Given the description of an element on the screen output the (x, y) to click on. 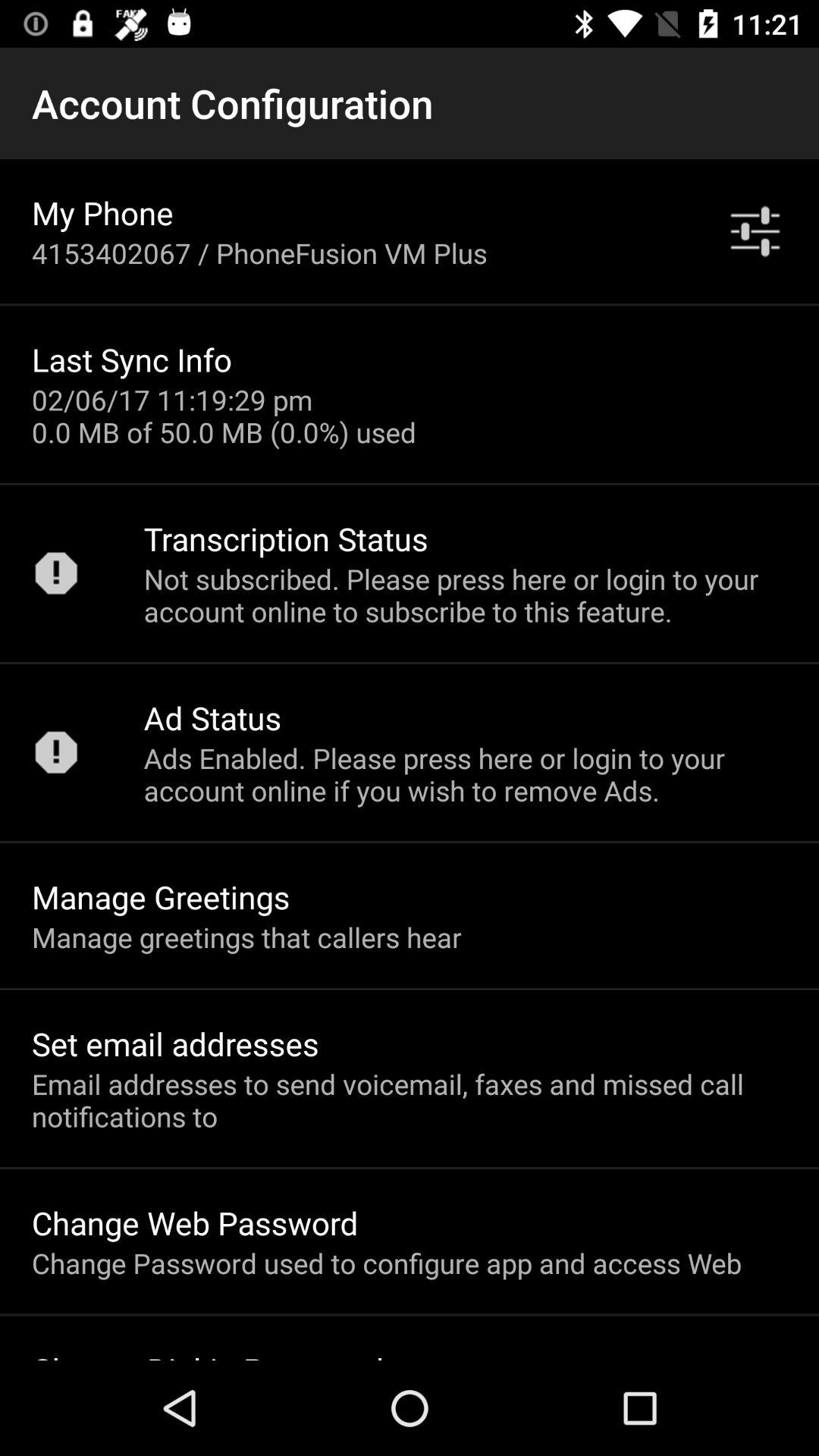
select the item to the right of the 4153402067 phonefusion vm icon (755, 231)
